Given the description of an element on the screen output the (x, y) to click on. 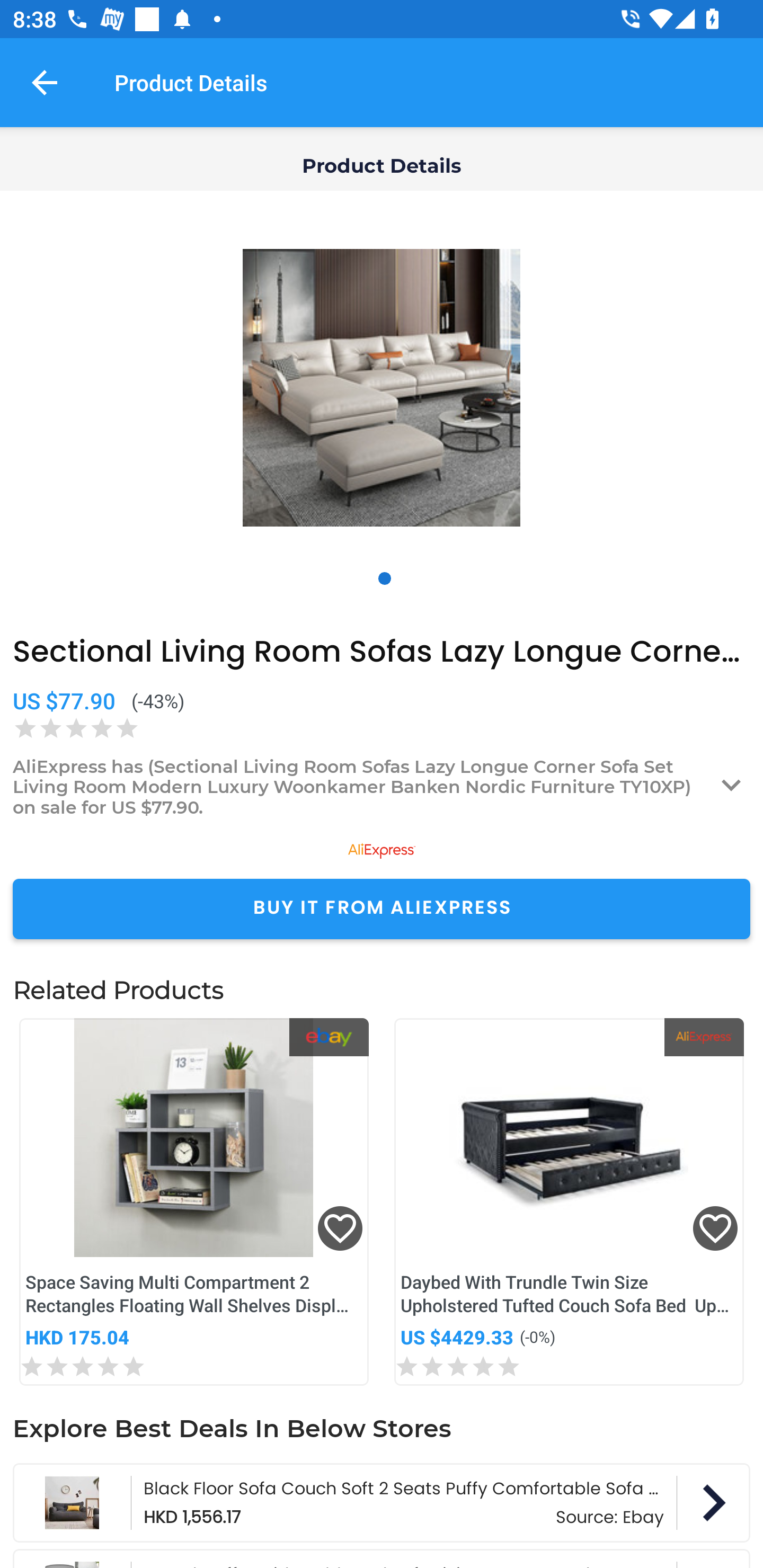
Navigate up (44, 82)
BUY IT FROM ALIEXPRESS (381, 908)
